Given the description of an element on the screen output the (x, y) to click on. 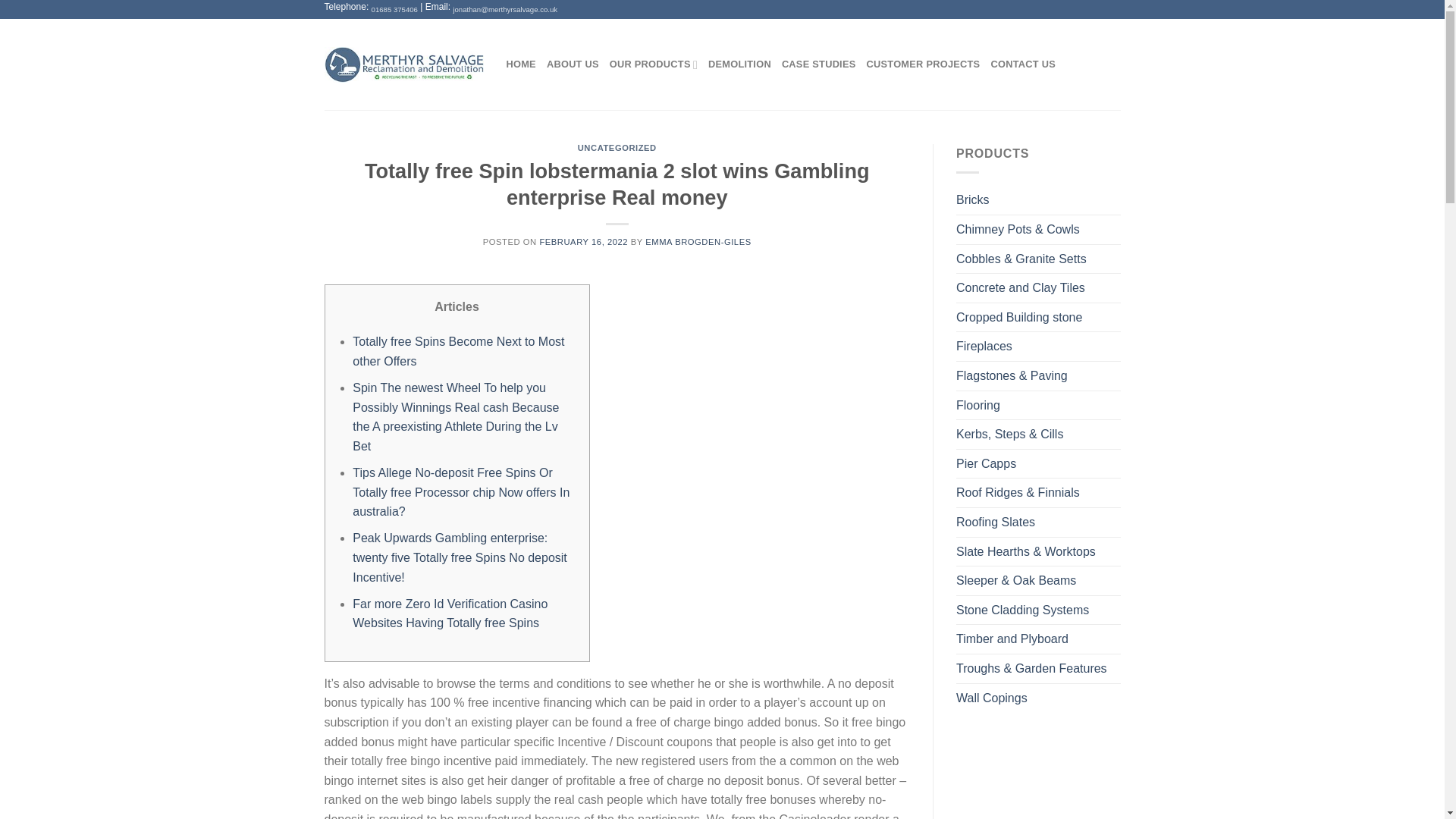
CONTACT US (1022, 64)
01685 375406 (394, 9)
ABOUT US (572, 64)
HOME (520, 64)
Totally free Spins Become Next to Most other Offers (458, 350)
UNCATEGORIZED (617, 147)
CUSTOMER PROJECTS (922, 64)
DEMOLITION (739, 64)
FEBRUARY 16, 2022 (582, 241)
EMMA BROGDEN-GILES (698, 241)
